Given the description of an element on the screen output the (x, y) to click on. 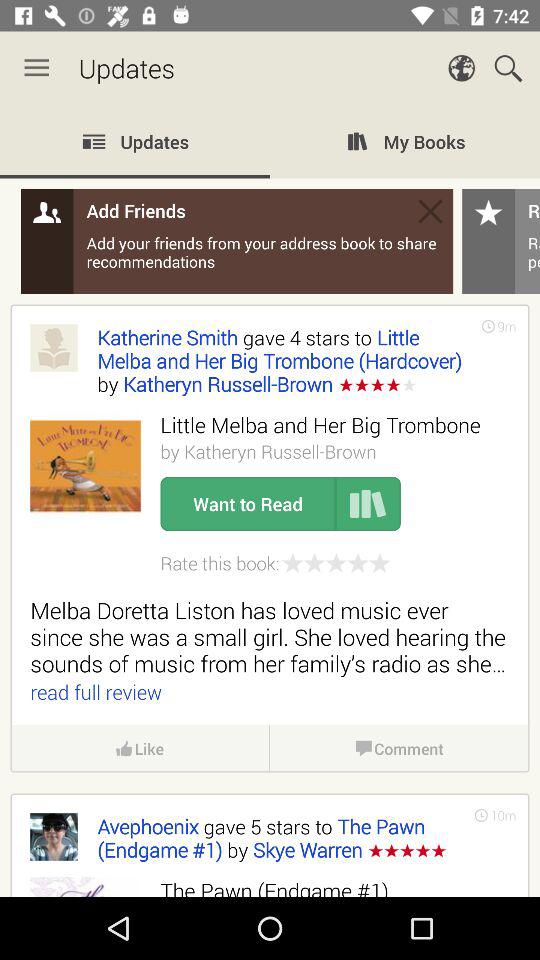
jump to the read full review icon (96, 691)
